Given the description of an element on the screen output the (x, y) to click on. 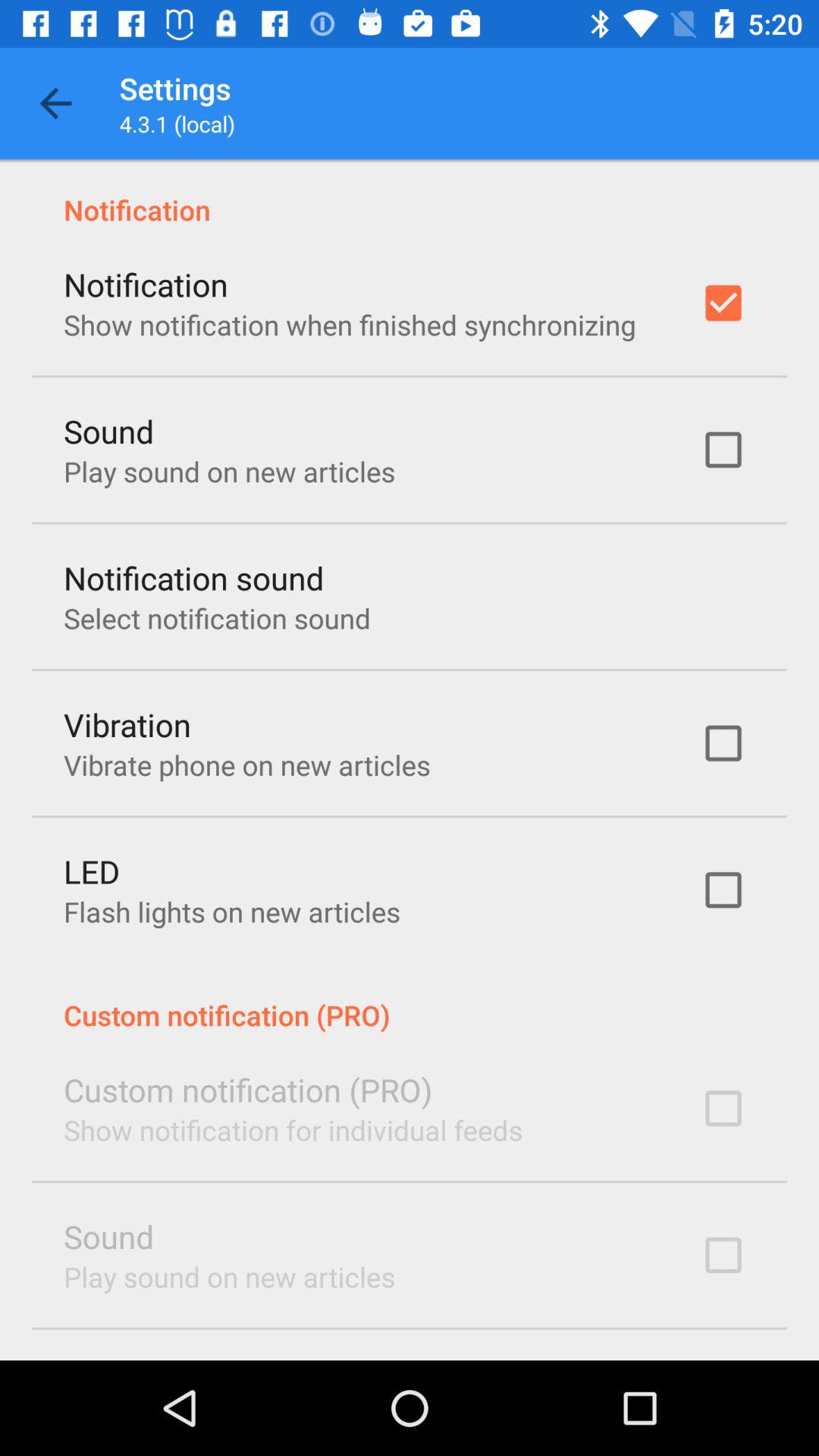
launch icon below vibrate phone on item (91, 870)
